Given the description of an element on the screen output the (x, y) to click on. 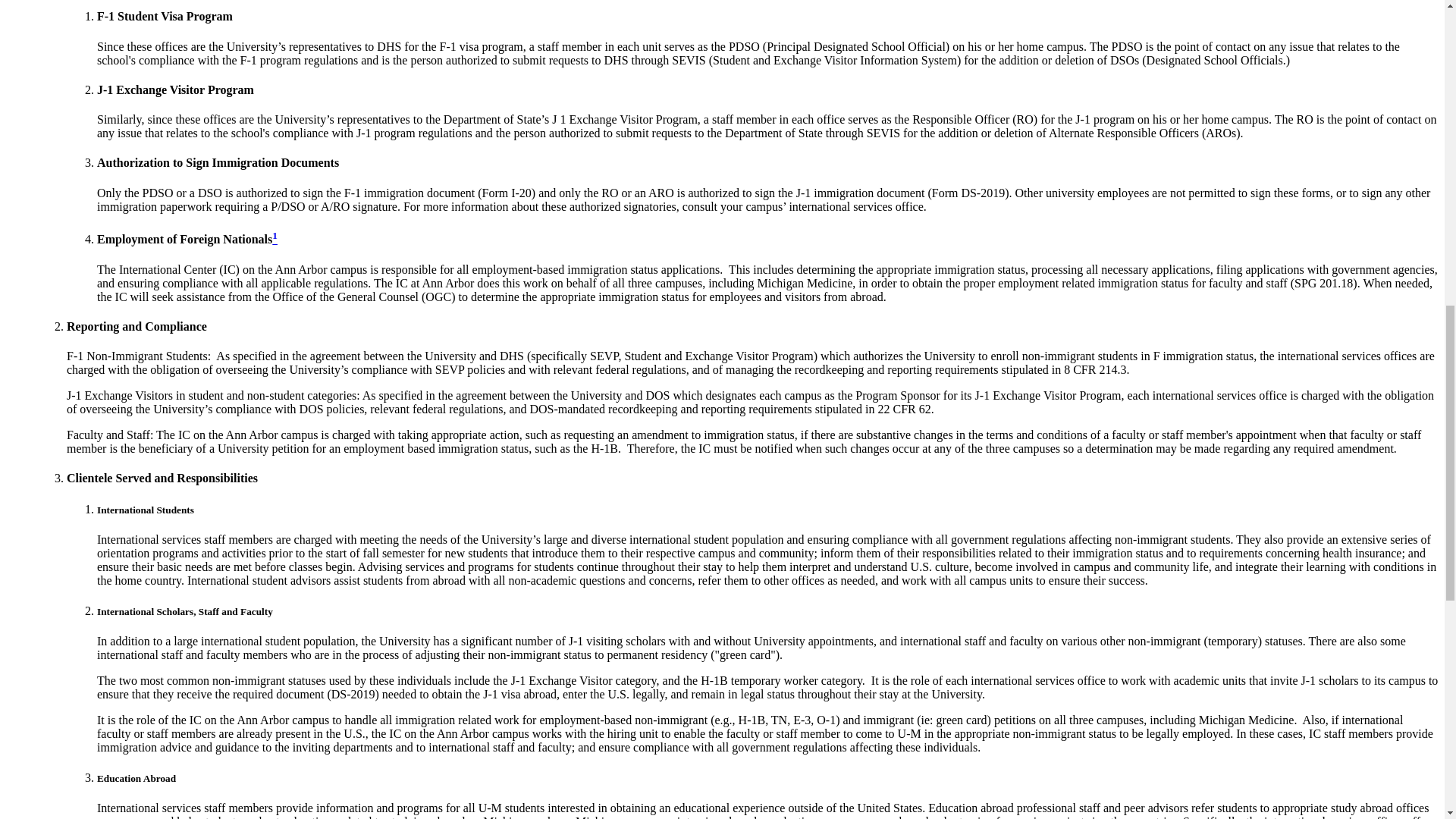
1 (275, 238)
